Given the description of an element on the screen output the (x, y) to click on. 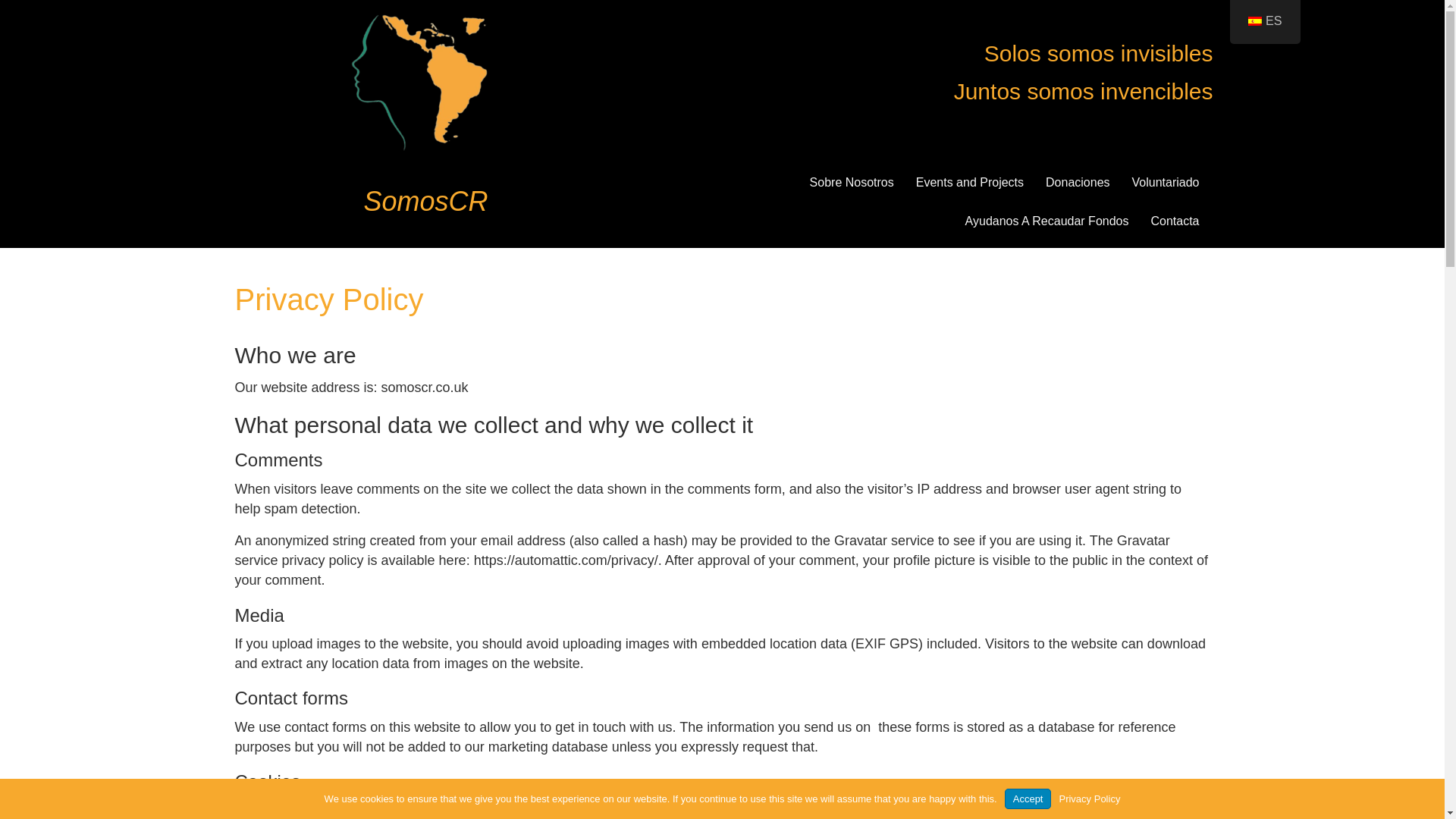
Ayudanos A Recaudar Fondos (1047, 220)
Events and Projects (969, 181)
Voluntariado (1165, 181)
Donaciones (1078, 181)
SomosCR (425, 201)
Privacy Policy (1088, 798)
Accept (1027, 798)
Contacta (1174, 220)
Sobre Nosotros (851, 181)
ES (1265, 20)
